Given the description of an element on the screen output the (x, y) to click on. 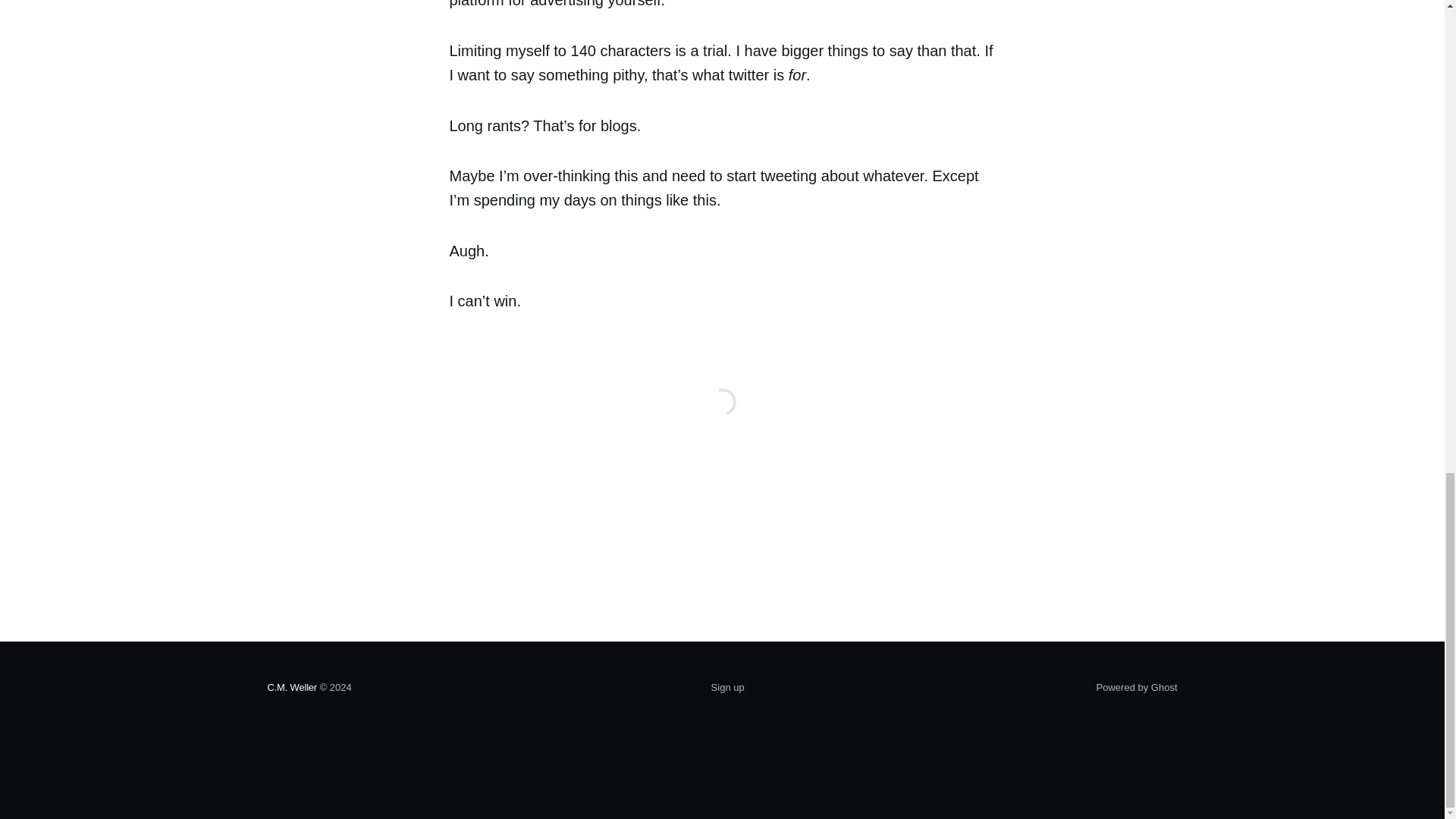
Powered by Ghost (1136, 686)
C.M. Weller (291, 686)
Sign up (727, 687)
comments-frame (721, 419)
